Given the description of an element on the screen output the (x, y) to click on. 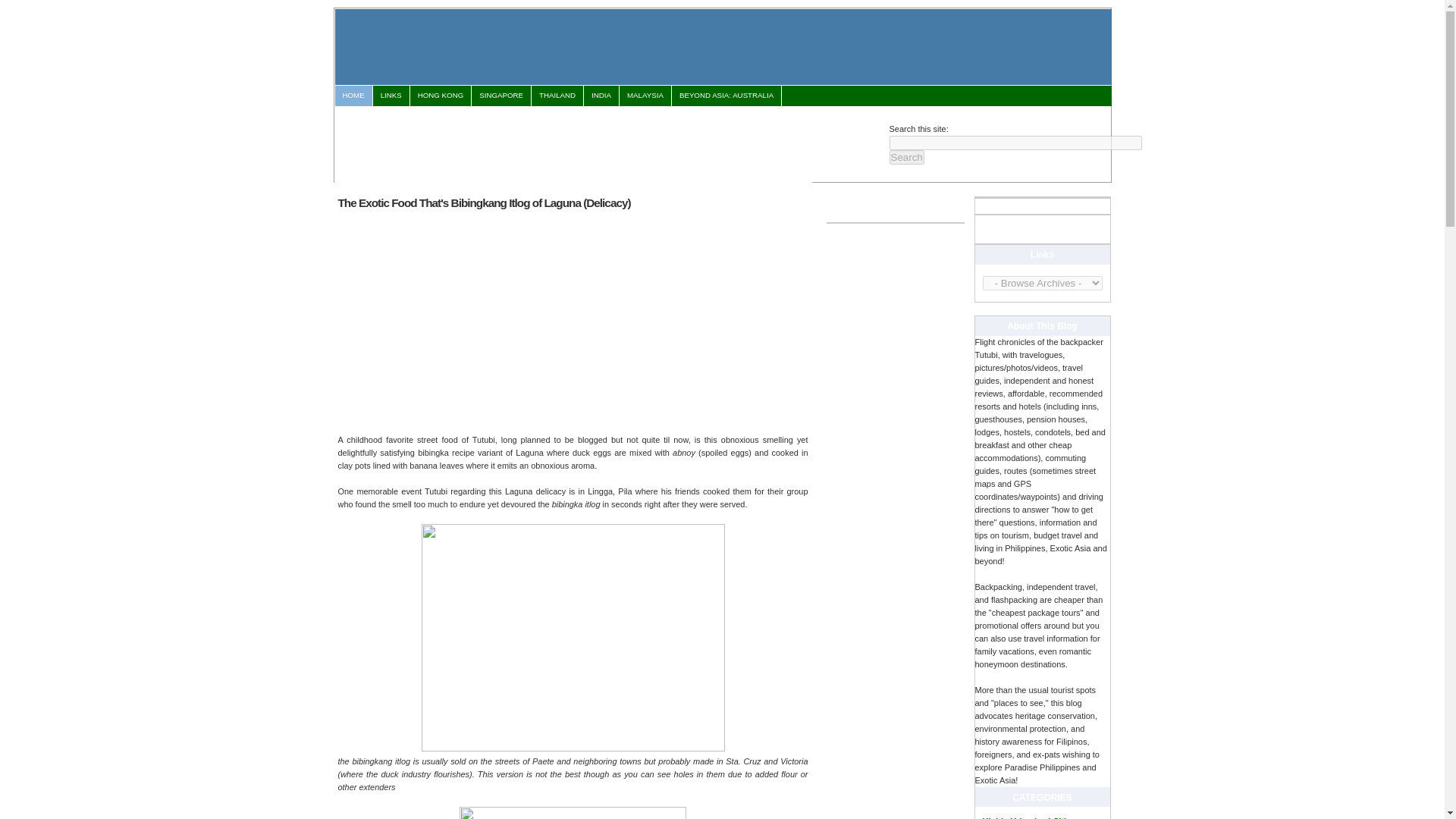
SINGAPORE (501, 95)
THAILAND (557, 95)
BEYOND ASIA: AUSTRALIA (725, 95)
Highly Urbanized Cities (1028, 817)
INDIA (600, 95)
LINKS (390, 95)
Search (905, 156)
Search (905, 156)
Advertisement (610, 141)
HONG KONG (440, 95)
HOME (353, 95)
Advertisement (466, 320)
MALAYSIA (645, 95)
